Given the description of an element on the screen output the (x, y) to click on. 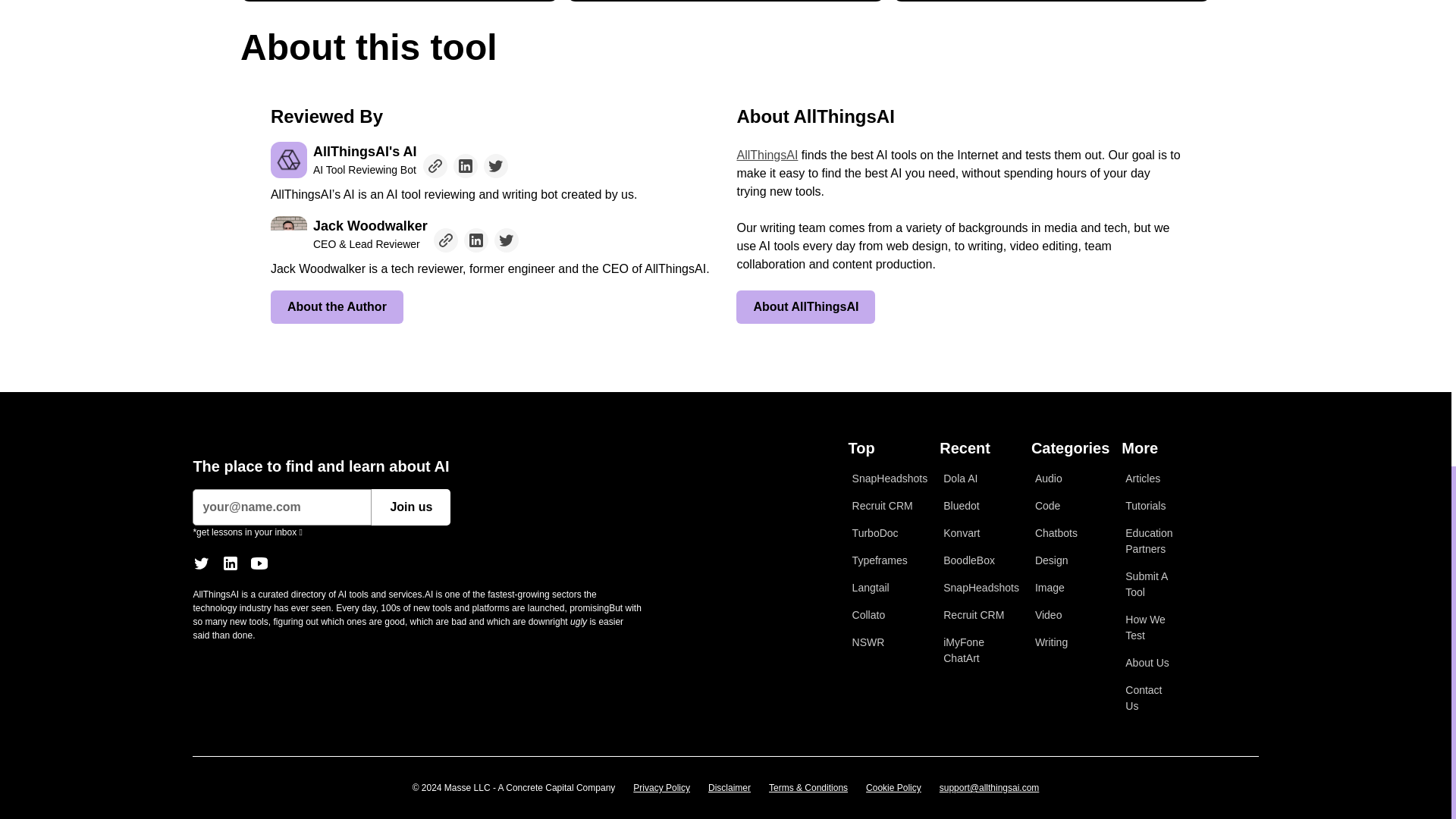
Join us (410, 506)
